Given the description of an element on the screen output the (x, y) to click on. 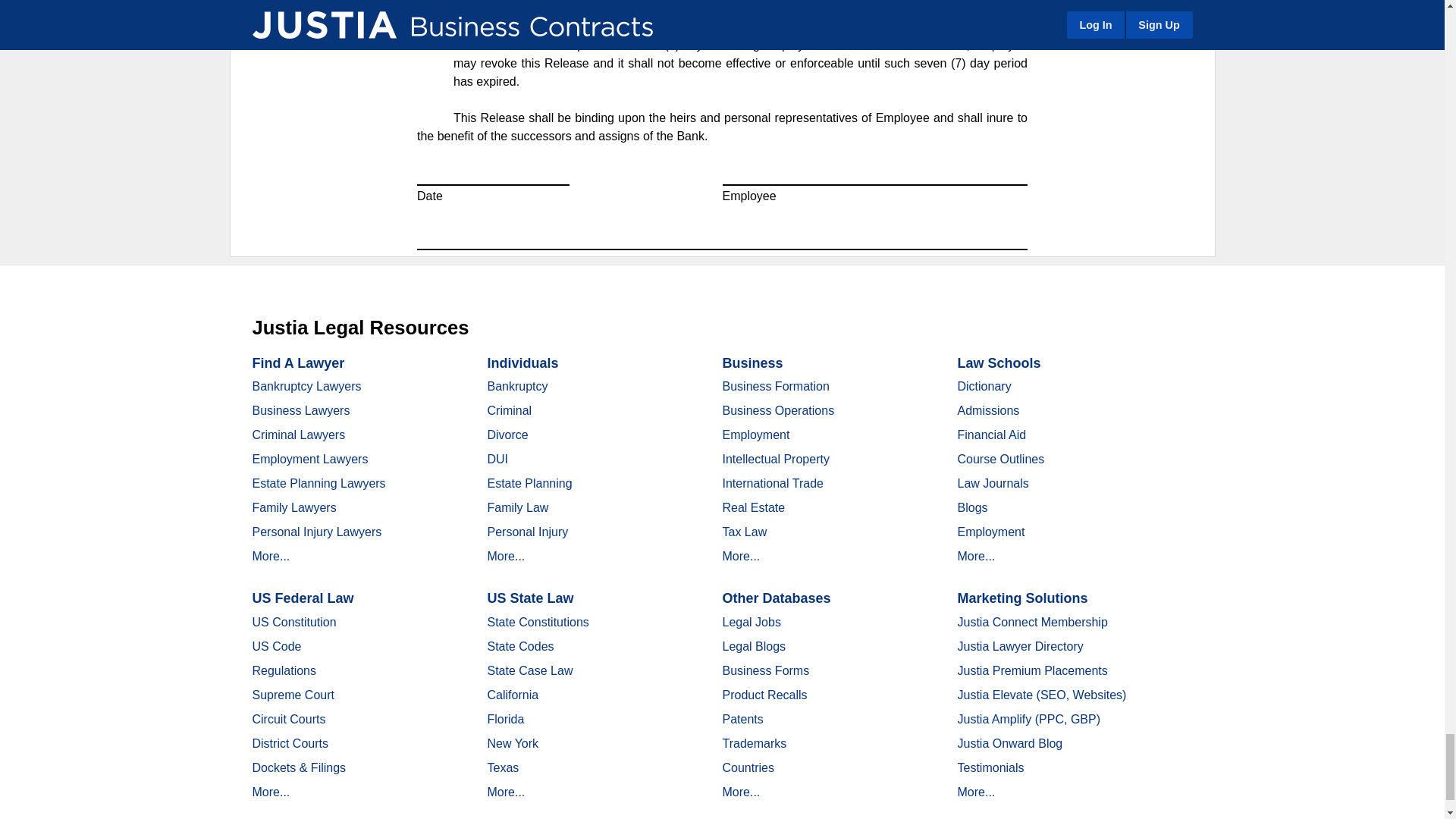
Find A Lawyer (297, 363)
Employment Lawyers (309, 459)
More... (270, 555)
Bankruptcy Lawyers (306, 386)
Personal Injury Lawyers (316, 531)
Estate Planning Lawyers (318, 482)
Family Lawyers (293, 507)
Criminal Lawyers (298, 434)
Business Lawyers (300, 410)
